Given the description of an element on the screen output the (x, y) to click on. 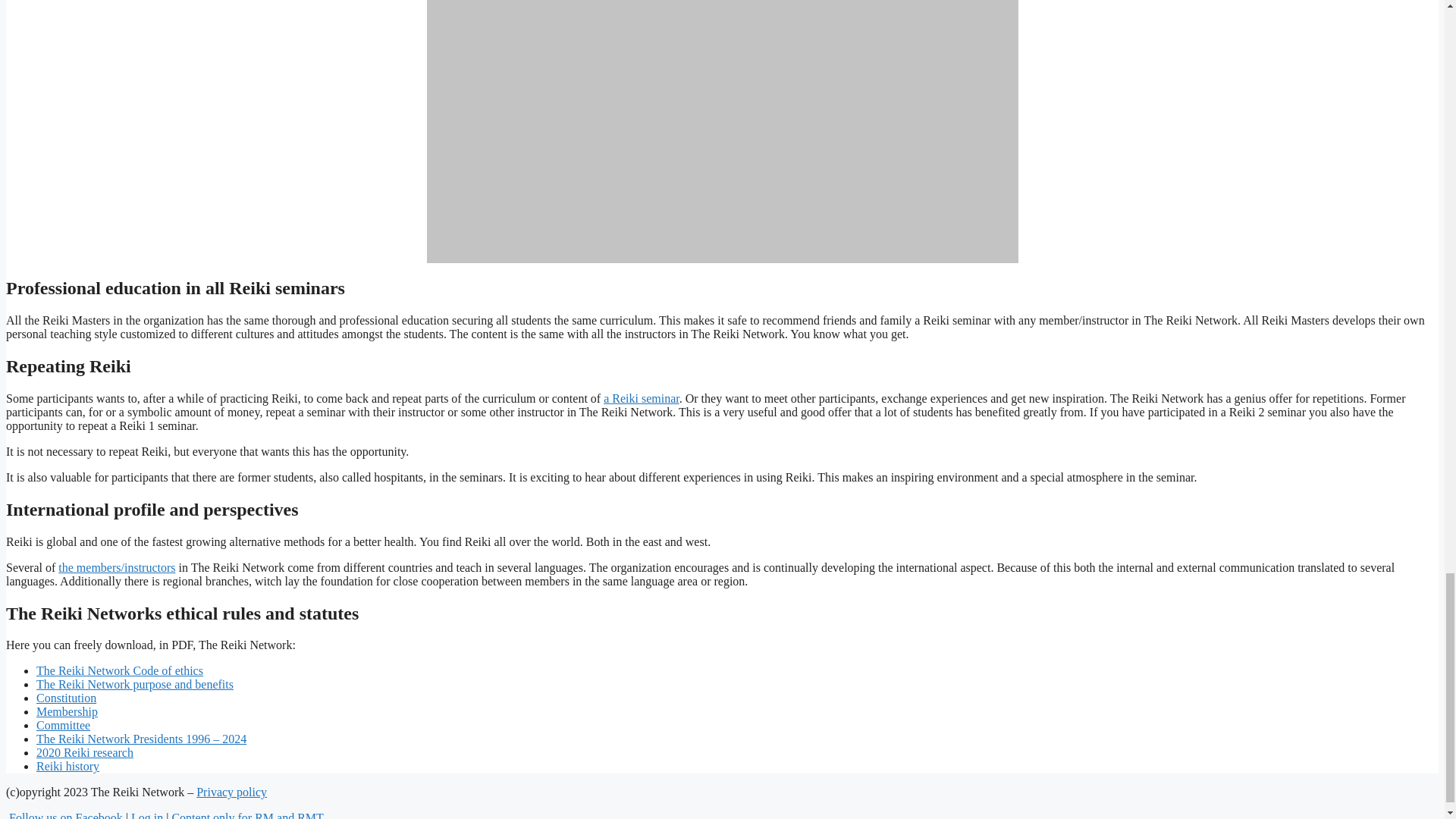
Reiki history (67, 766)
Constitution (66, 697)
2020 Reiki research (84, 752)
Privacy policy (231, 791)
The Reiki Network purpose and benefits (134, 684)
a Reiki seminar (641, 398)
The Reiki Network Code of ethics (119, 670)
Committee (63, 725)
Membership (66, 711)
